Given the description of an element on the screen output the (x, y) to click on. 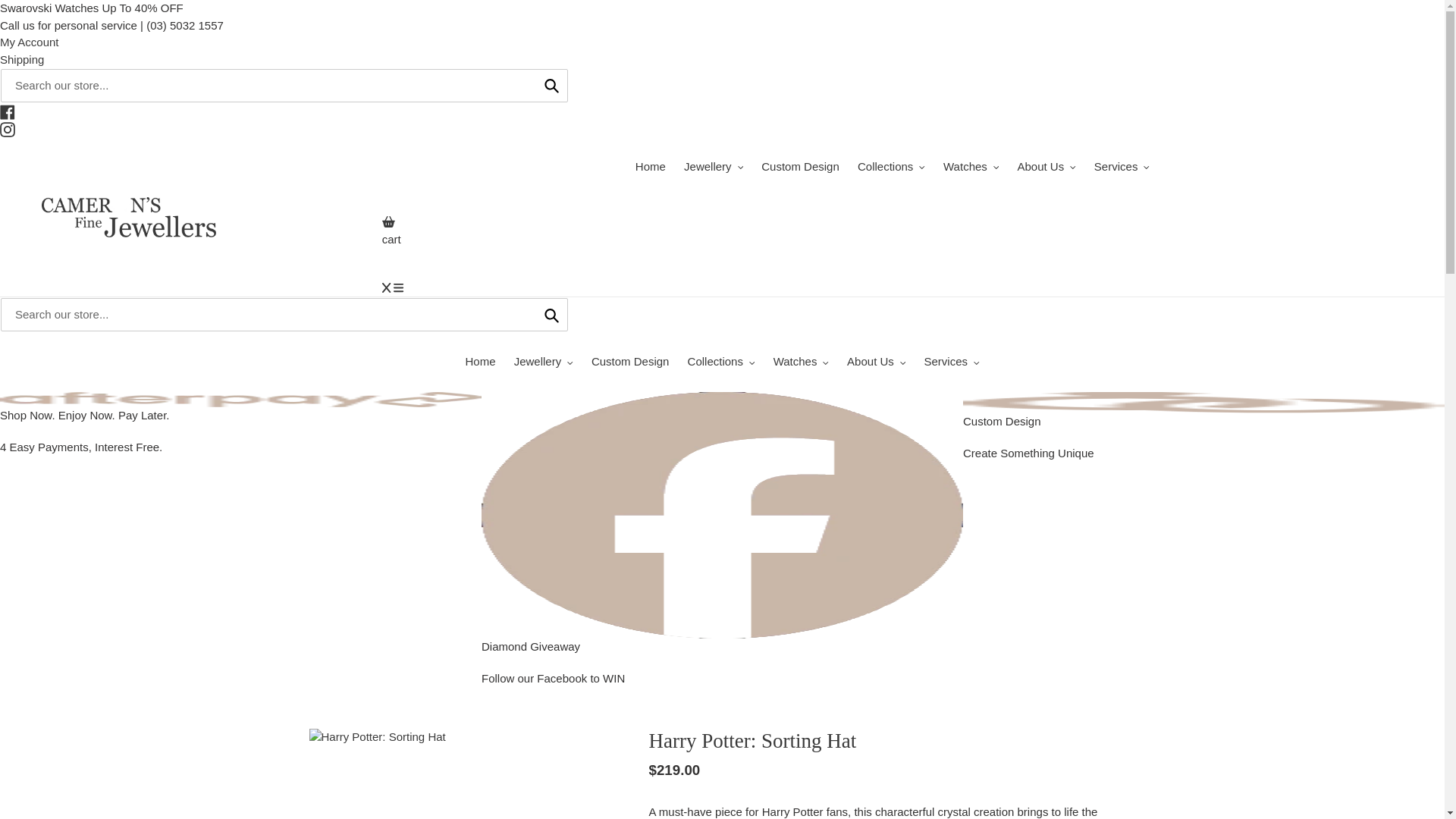
Services (1121, 167)
Jewellery (714, 167)
Watches (971, 167)
My Account (29, 42)
Home (649, 167)
Custom Design (800, 167)
Shipping (21, 59)
Collections (891, 167)
About Us (1046, 167)
Submit (551, 85)
